Given the description of an element on the screen output the (x, y) to click on. 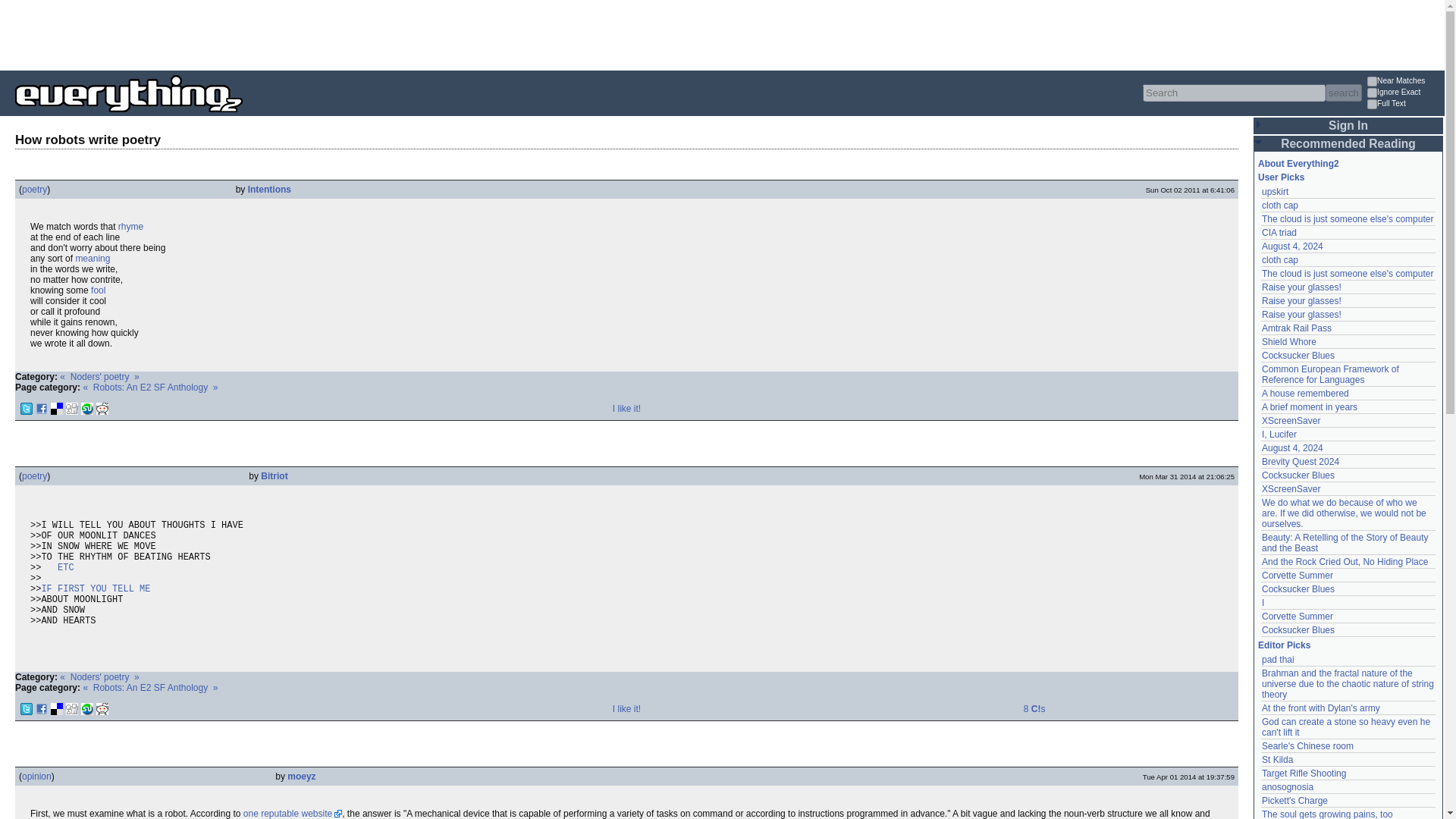
rhyme (129, 226)
search (1342, 92)
meaning (92, 258)
Twitter (26, 408)
poetry (33, 475)
Noders' poetry (99, 676)
I like it! (626, 708)
I'm the idiot to your poetry (97, 290)
search (1342, 92)
Search within Everything2 (1342, 92)
